Given the description of an element on the screen output the (x, y) to click on. 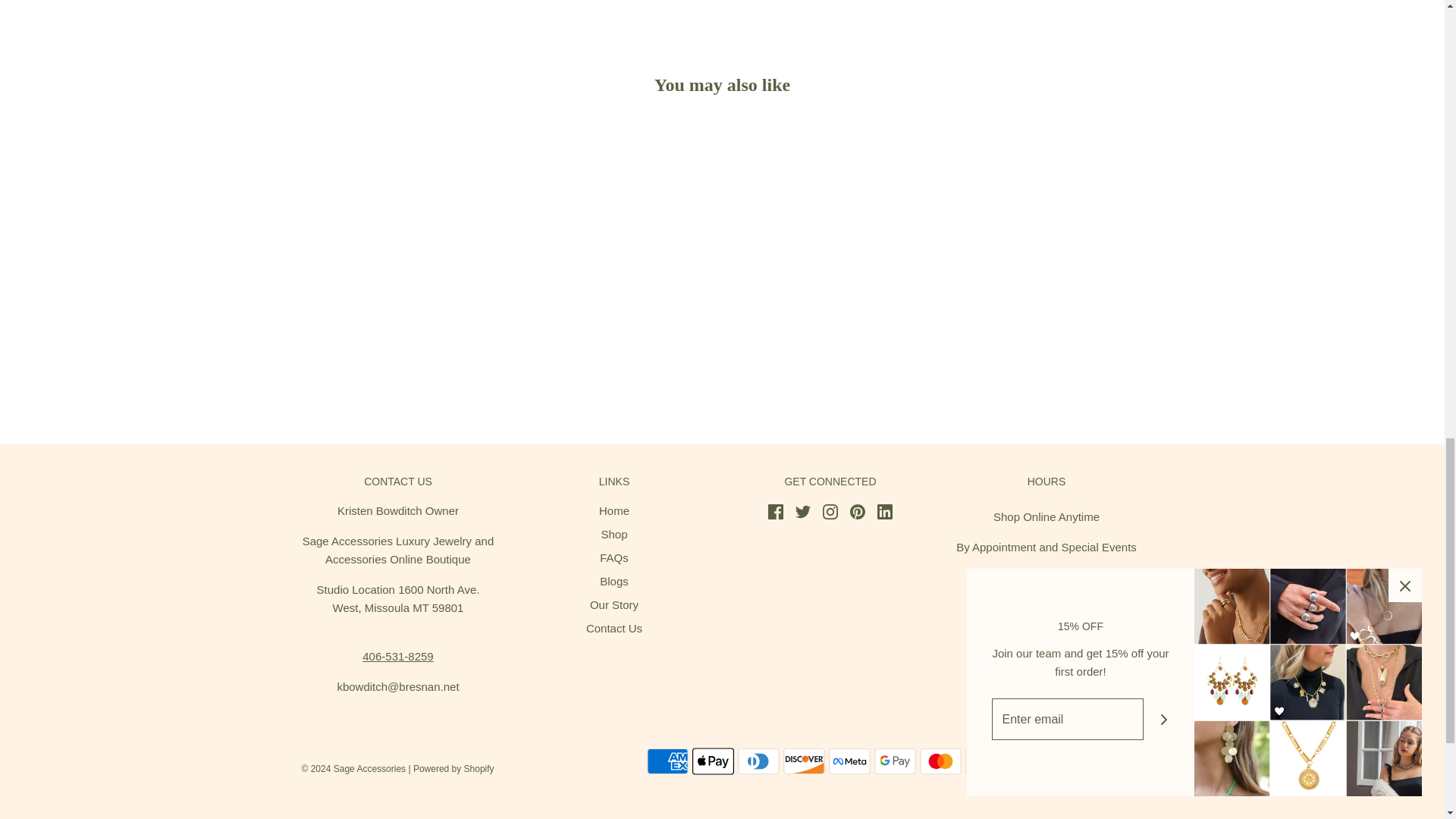
Diners Club (757, 761)
Apple Pay (712, 761)
Facebook icon (775, 511)
Twitter icon (802, 511)
Meta Pay (848, 761)
Instagram icon (830, 511)
American Express (666, 761)
Pinterest icon (857, 511)
Discover (803, 761)
LinkedIn icon (884, 511)
